Given the description of an element on the screen output the (x, y) to click on. 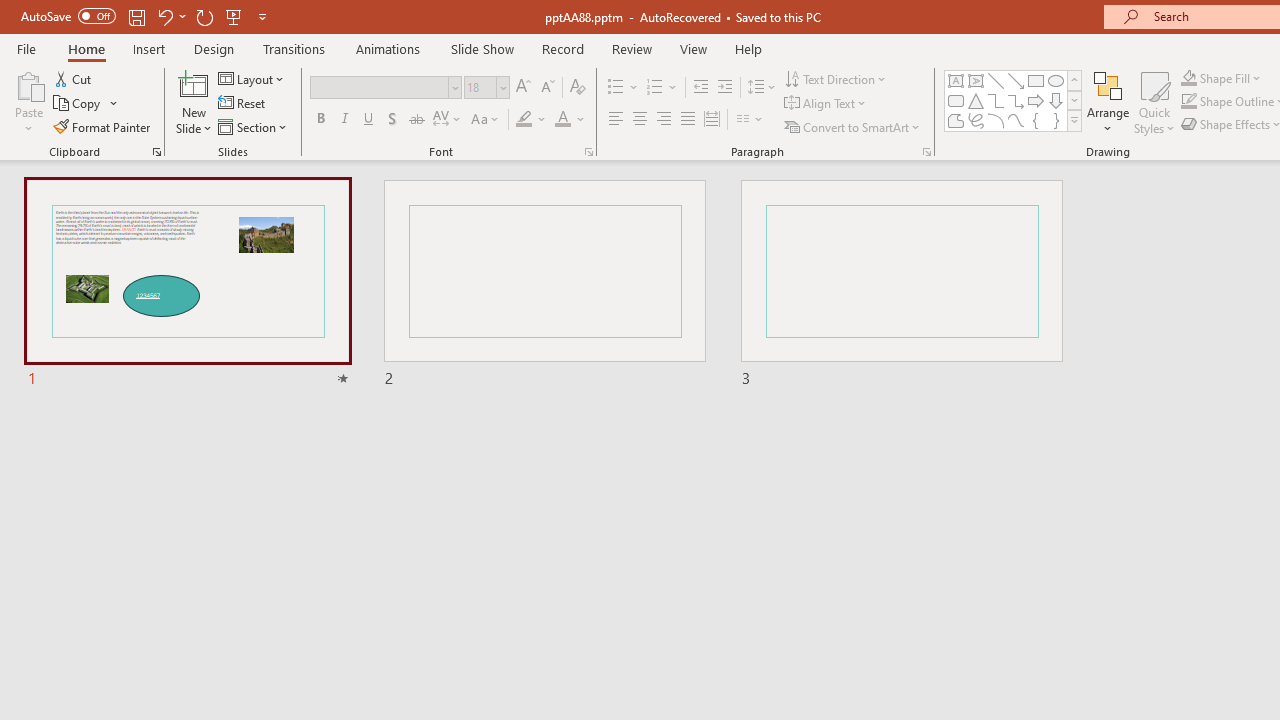
Oval (1055, 80)
Line (995, 80)
Italic (344, 119)
Convert to SmartArt (853, 126)
Reset (243, 103)
Right Brace (1055, 120)
